Given the description of an element on the screen output the (x, y) to click on. 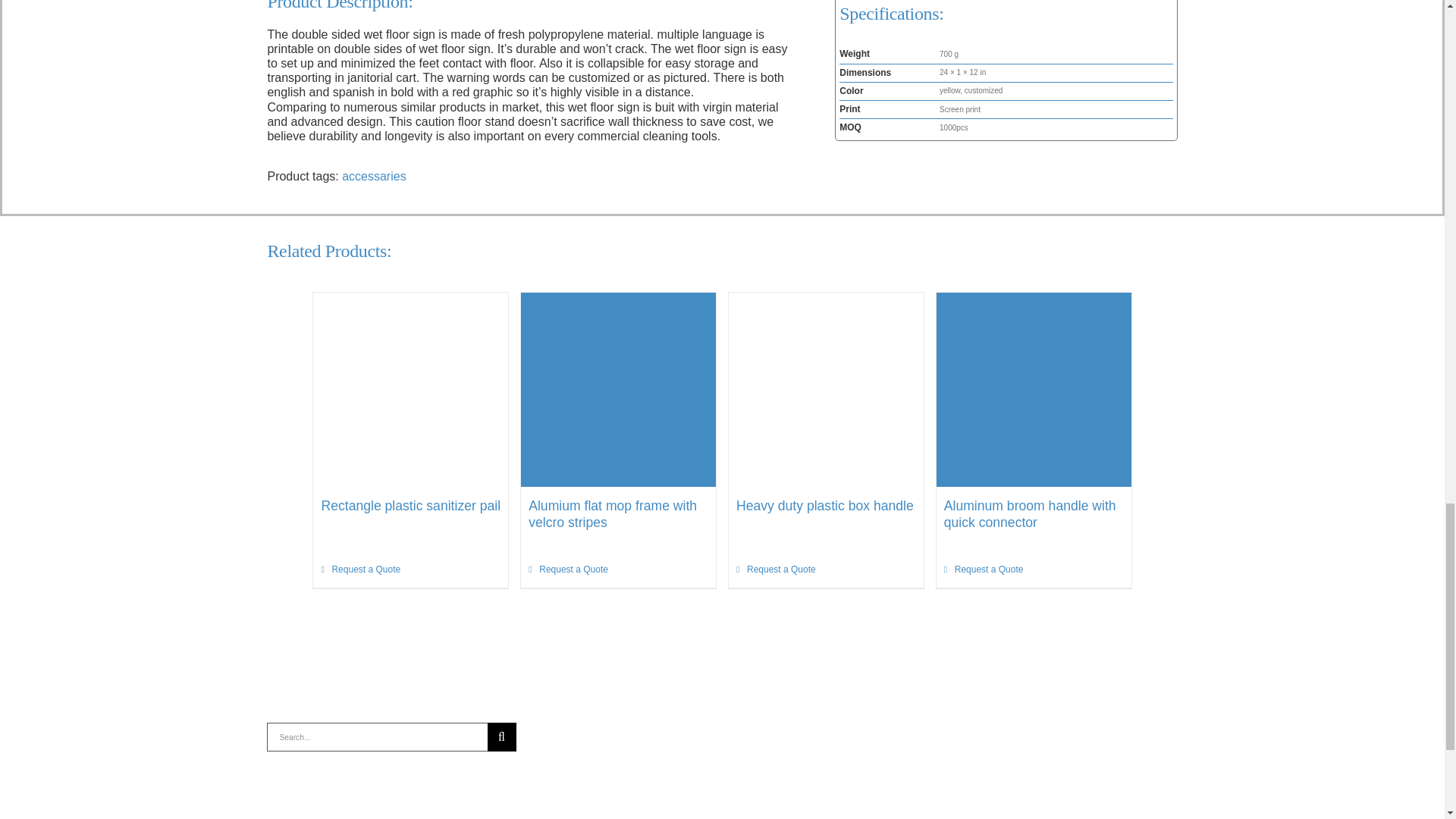
Request a Quote (360, 569)
Rectangle plastic sanitizer pail (410, 505)
Request a Quote (568, 569)
accessaries (374, 175)
accessaries (374, 175)
Alumium flat mop frame with velcro stripes (612, 513)
